Given the description of an element on the screen output the (x, y) to click on. 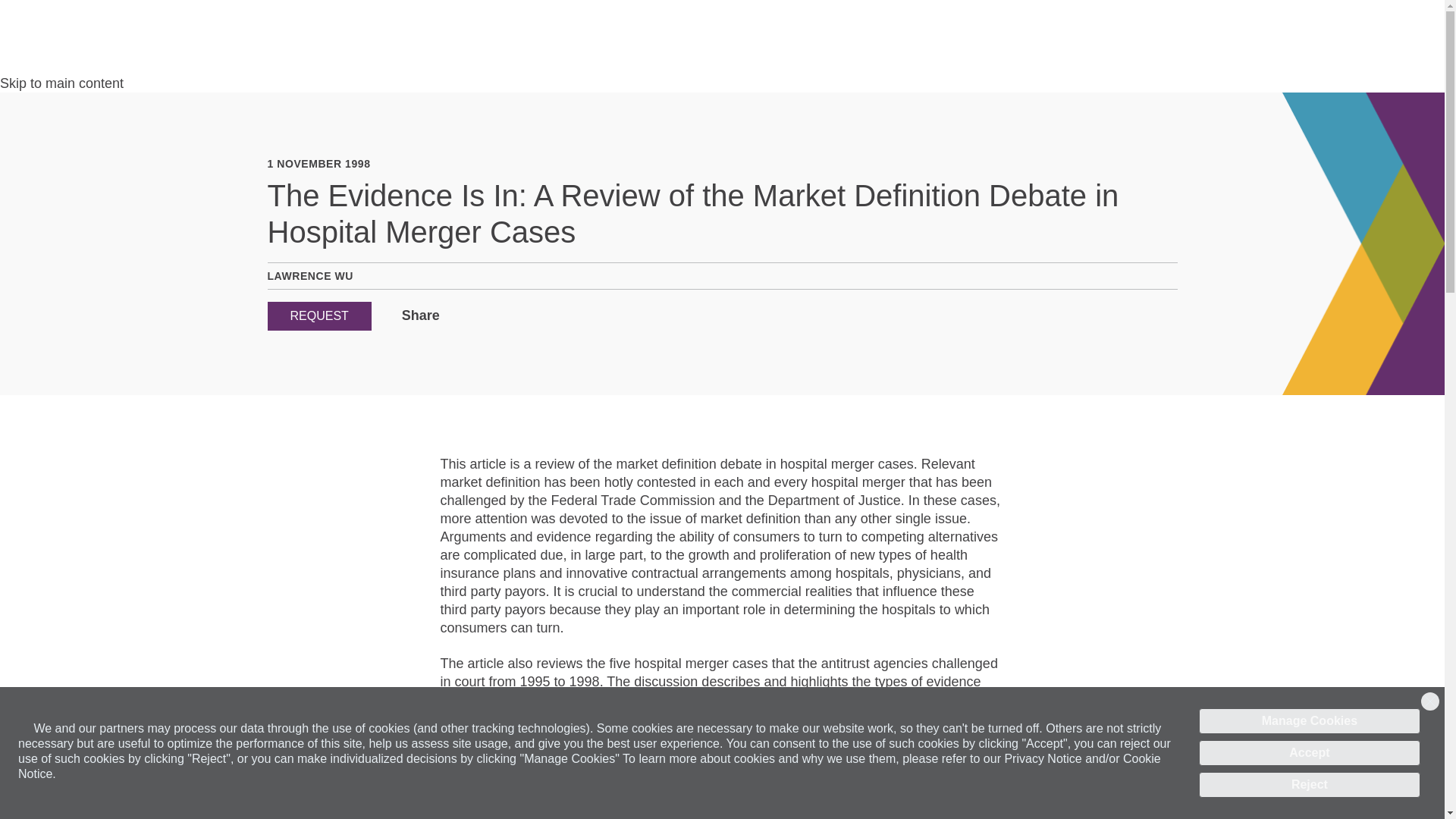
X (475, 316)
Skip to main content (61, 83)
LinkedIn (454, 316)
mail (497, 316)
mail (497, 316)
copy (518, 316)
linkedin (454, 316)
Reject (1309, 784)
Manage Cookies (1309, 720)
REQUEST (318, 316)
